Given the description of an element on the screen output the (x, y) to click on. 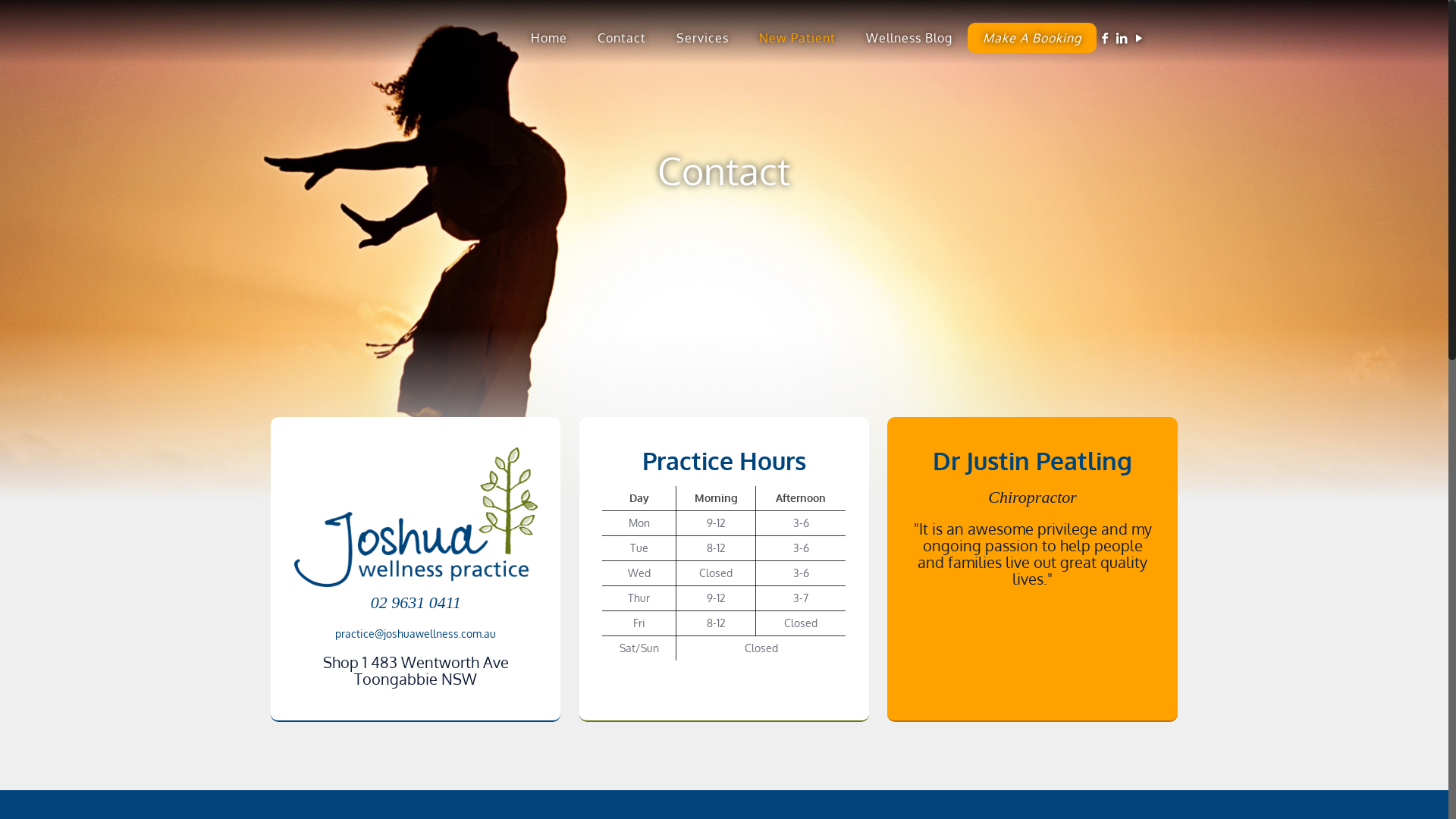
New Patient Element type: text (796, 37)
Wellness Blog Element type: text (908, 37)
Make A Booking Element type: text (1031, 37)
practice@joshuawellness.com.au Element type: text (415, 633)
Services Element type: text (702, 37)
Contact Element type: text (621, 37)
Home Element type: text (548, 37)
02 9631 0411 Element type: text (415, 602)
